Given the description of an element on the screen output the (x, y) to click on. 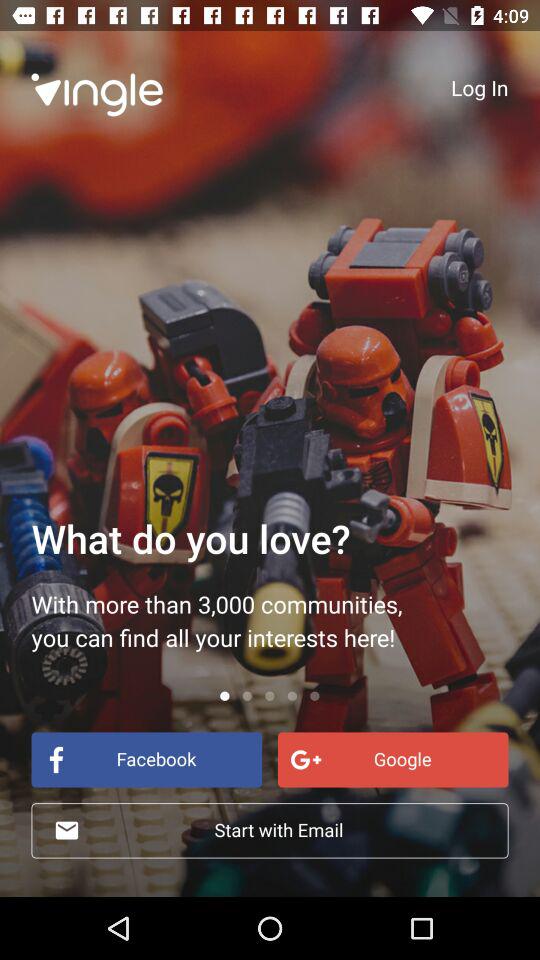
flip until the google (392, 759)
